Given the description of an element on the screen output the (x, y) to click on. 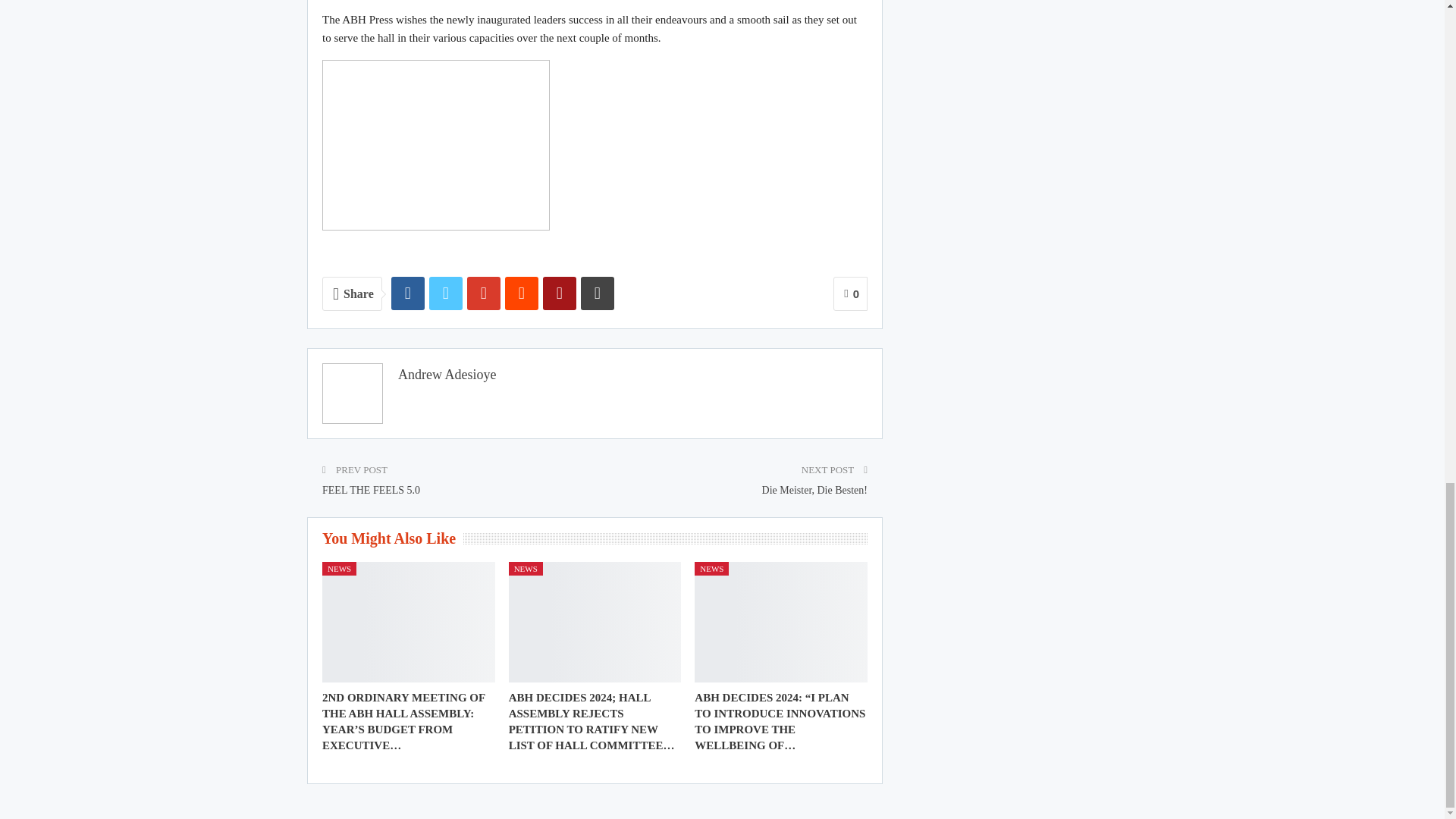
0 (849, 293)
NEWS (525, 568)
Andrew Adesioye (446, 374)
FEEL THE FEELS 5.0 (370, 490)
Die Meister, Die Besten! (814, 490)
NEWS (338, 568)
You Might Also Like (392, 539)
